Given the description of an element on the screen output the (x, y) to click on. 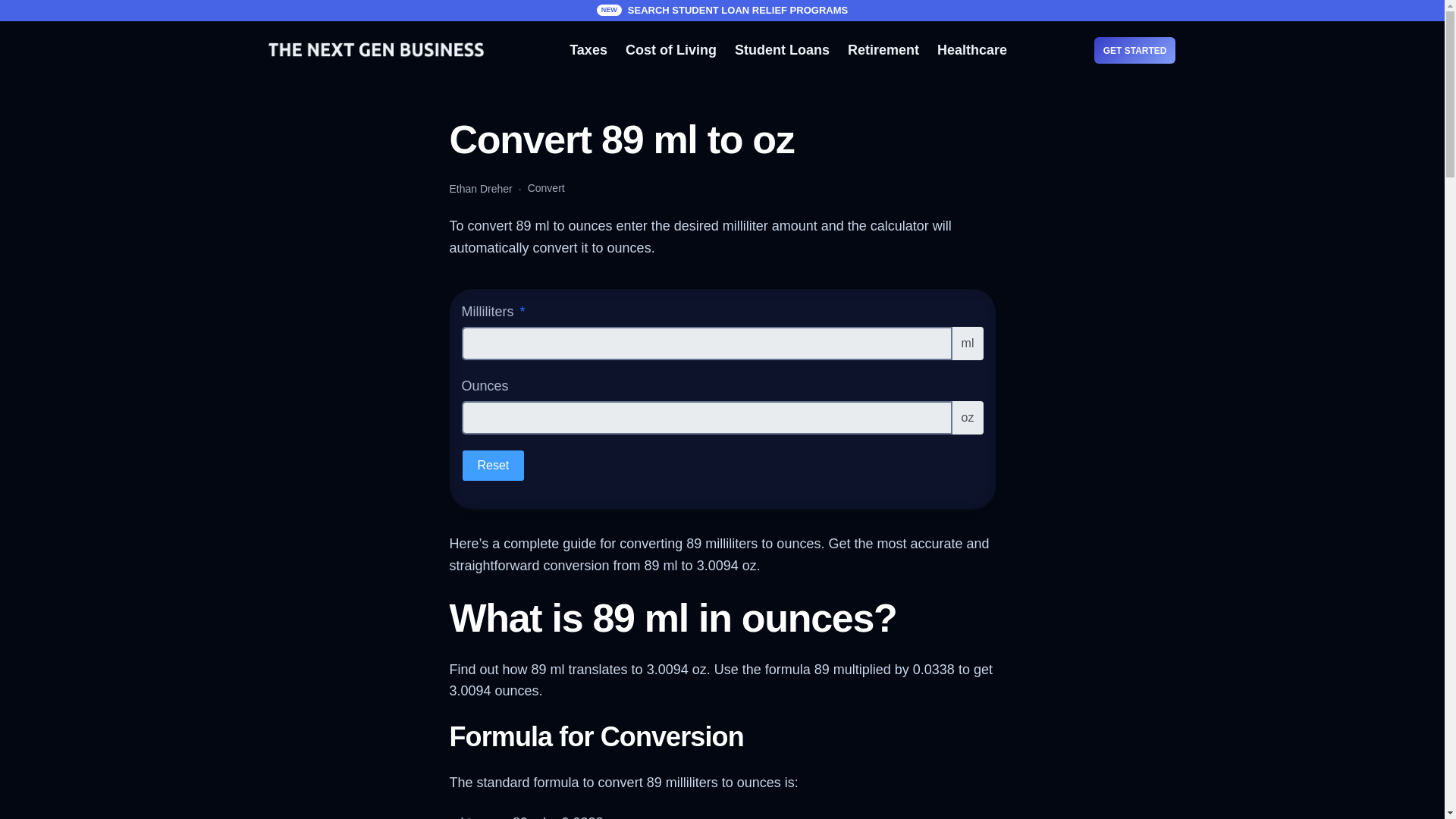
Convert (545, 188)
Healthcare (972, 50)
Student Loans (782, 50)
GET STARTED (1135, 49)
Ethan Dreher (480, 187)
Taxes (588, 50)
SEARCH STUDENT LOAN RELIEF PROGRAMS (737, 9)
Reset (492, 465)
Cost of Living (671, 50)
Retirement (882, 50)
